Given the description of an element on the screen output the (x, y) to click on. 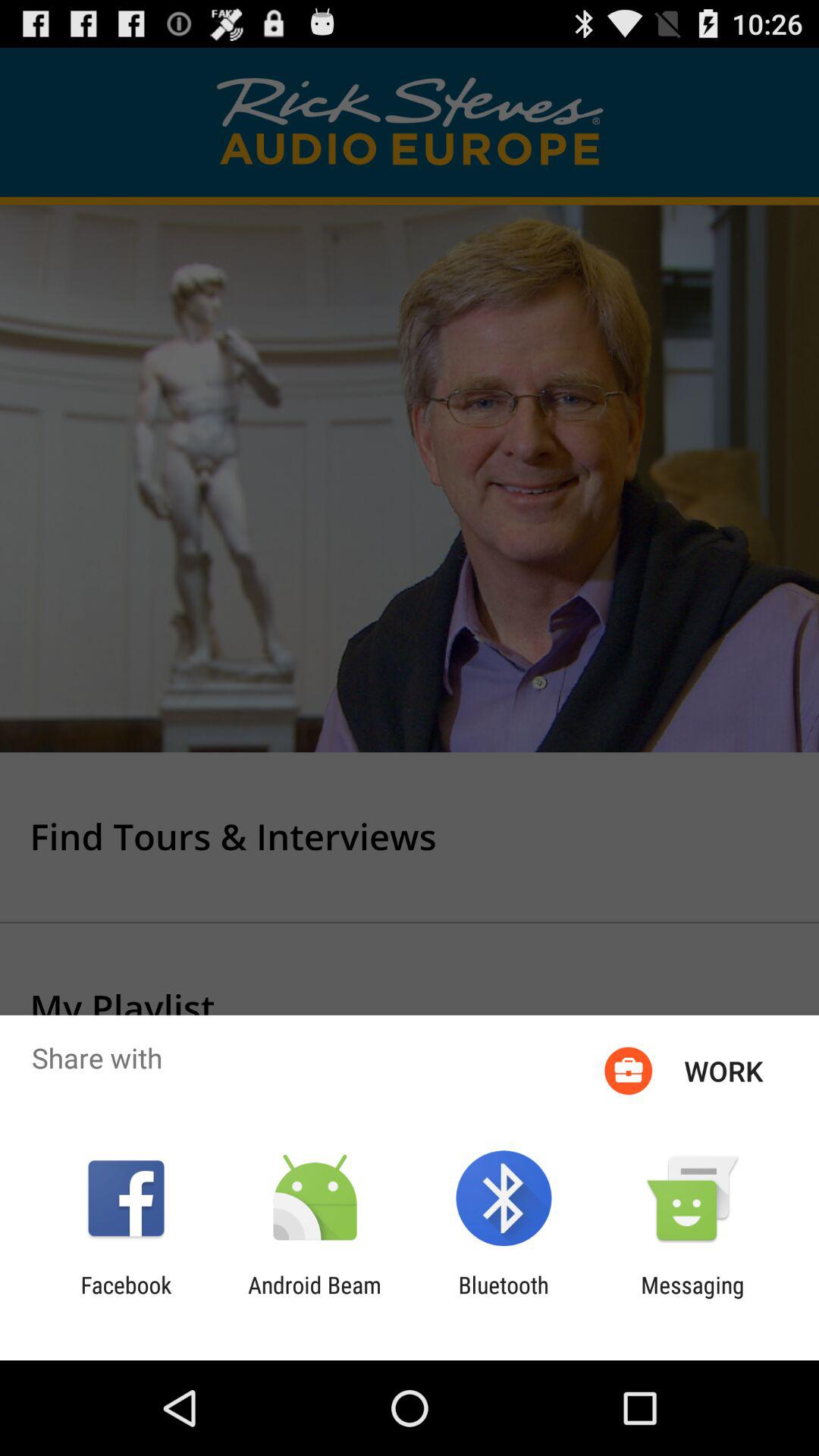
turn on the android beam item (314, 1298)
